Given the description of an element on the screen output the (x, y) to click on. 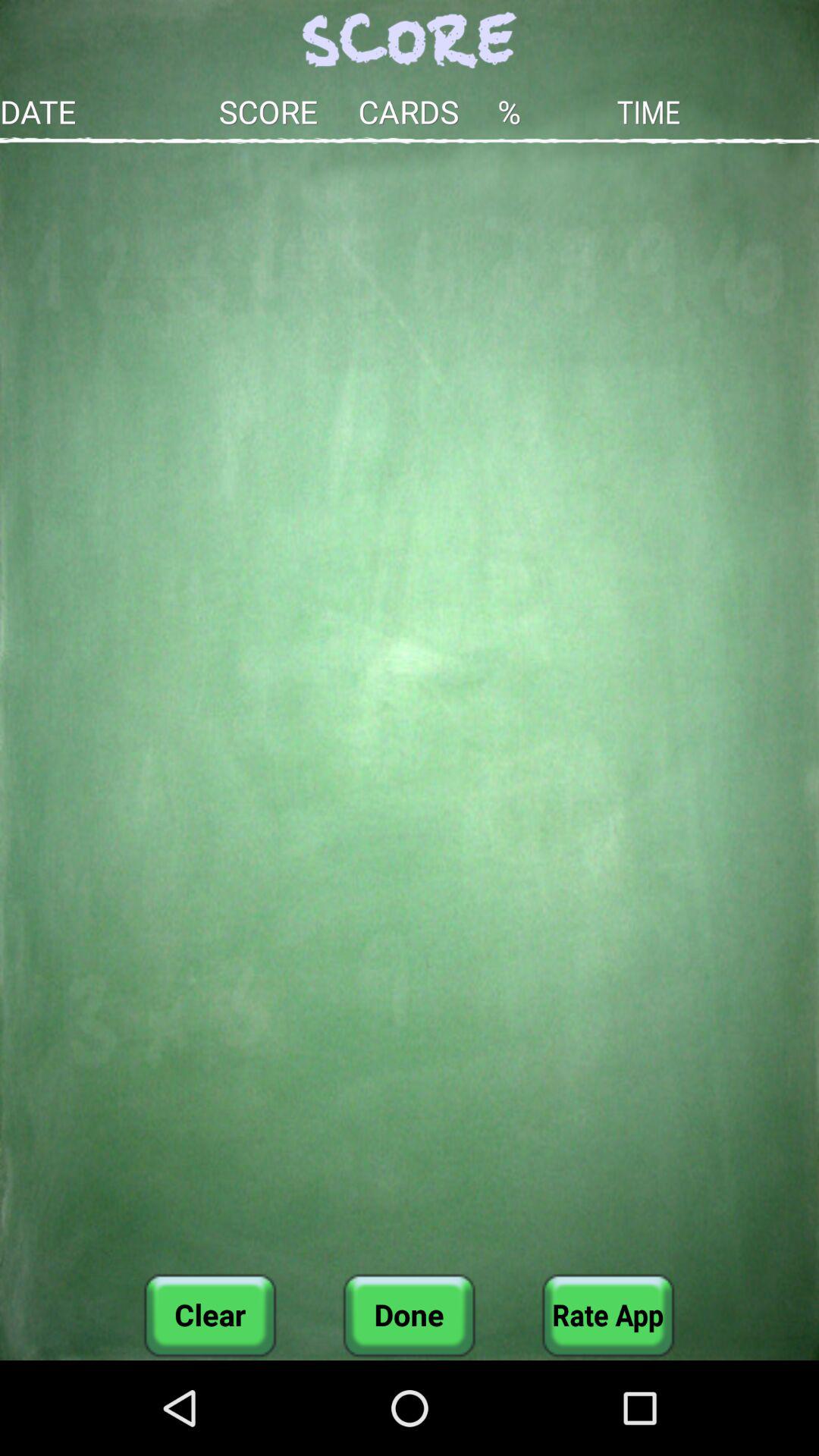
turn on clear (209, 1315)
